Given the description of an element on the screen output the (x, y) to click on. 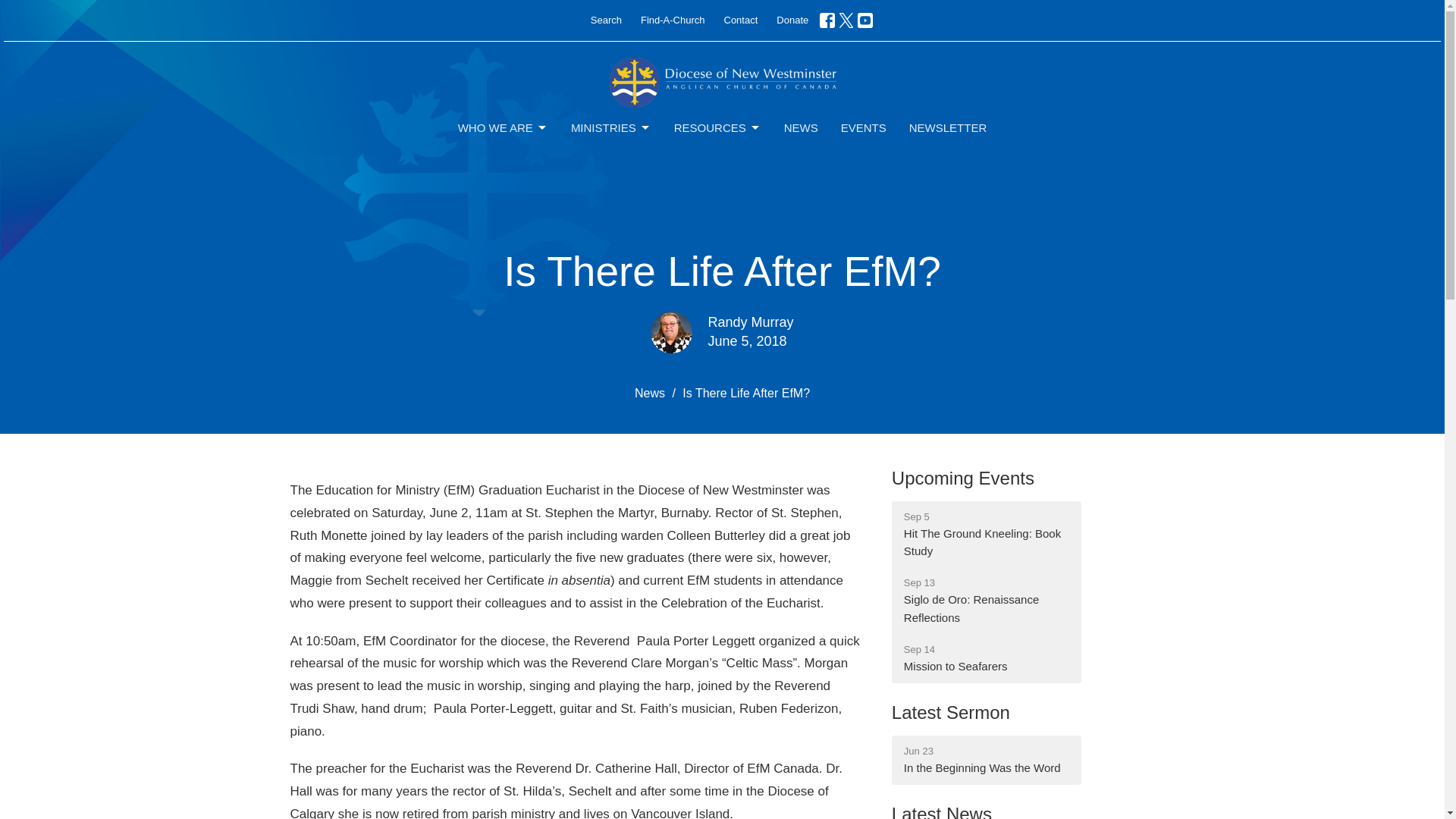
NEWS (801, 127)
Find-A-Church (673, 20)
Upcoming Events (962, 477)
Search (605, 20)
MINISTRIES (610, 127)
Donate (791, 20)
NEWSLETTER (947, 127)
WHO WE ARE (503, 127)
RESOURCES (717, 127)
News (649, 392)
